Given the description of an element on the screen output the (x, y) to click on. 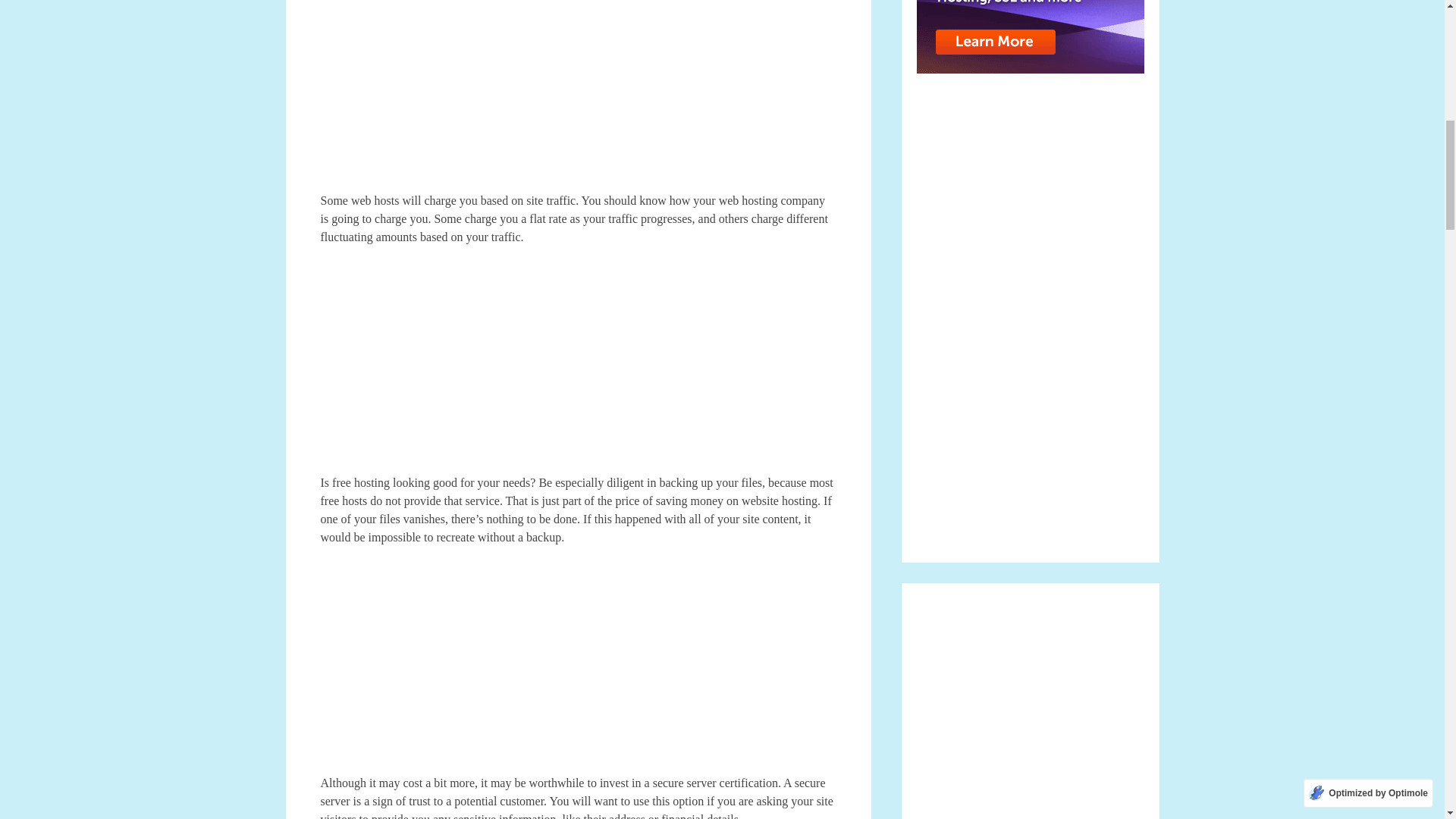
Advertisement (577, 95)
Advertisement (577, 367)
Advertisement (577, 667)
